Given the description of an element on the screen output the (x, y) to click on. 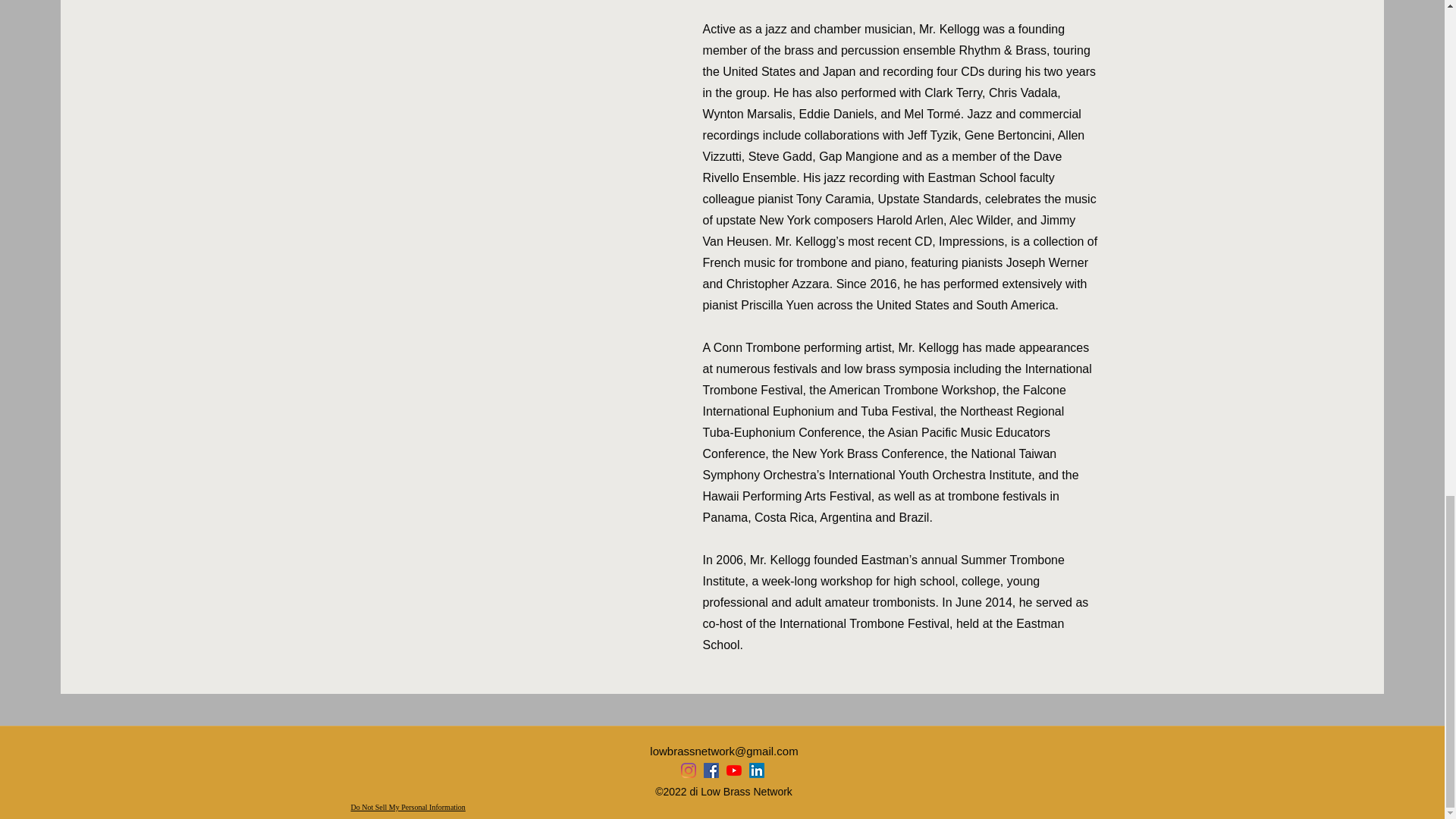
Do Not Sell My Personal Information (407, 807)
